Given the description of an element on the screen output the (x, y) to click on. 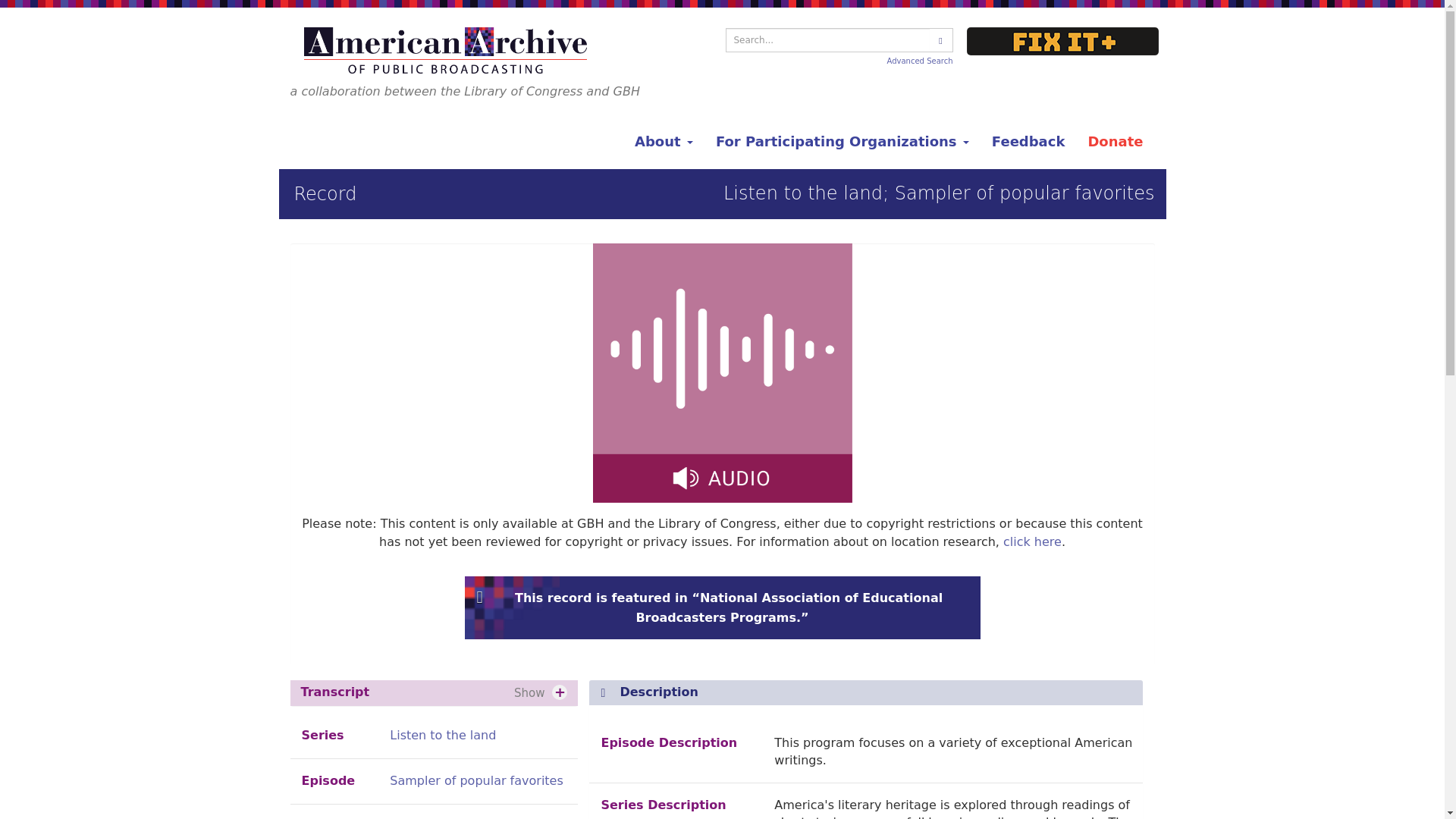
Advanced Search (919, 60)
Feedback (1028, 141)
FIX IT: A TRANSCRIPT GAME (1062, 41)
Donate (1114, 141)
About (663, 141)
For Participating Organizations (841, 141)
American Archive of Public Broadcasting (446, 50)
